Given the description of an element on the screen output the (x, y) to click on. 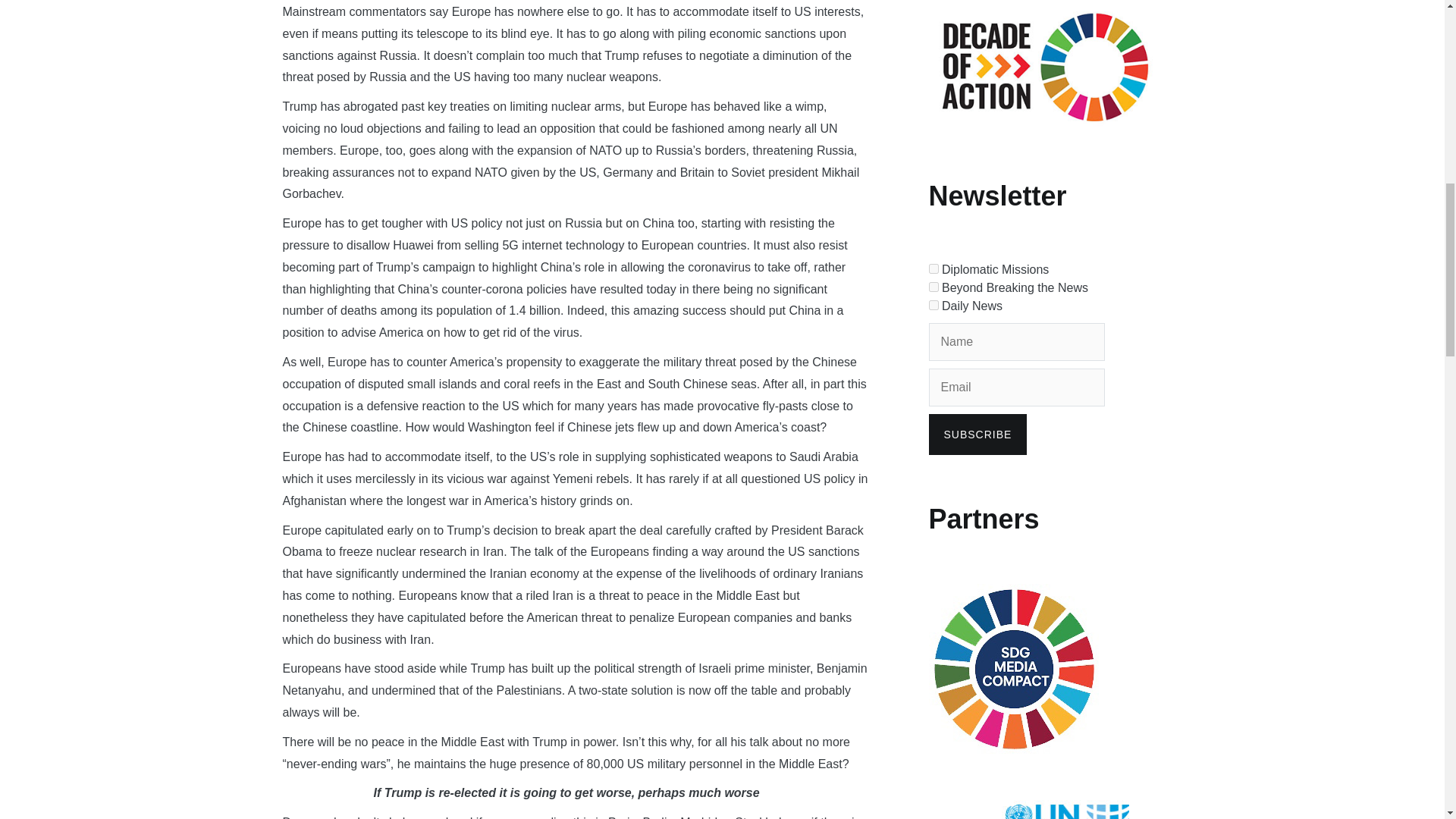
10 (932, 305)
8 (932, 268)
Subscribe (977, 434)
9 (932, 286)
